Given the description of an element on the screen output the (x, y) to click on. 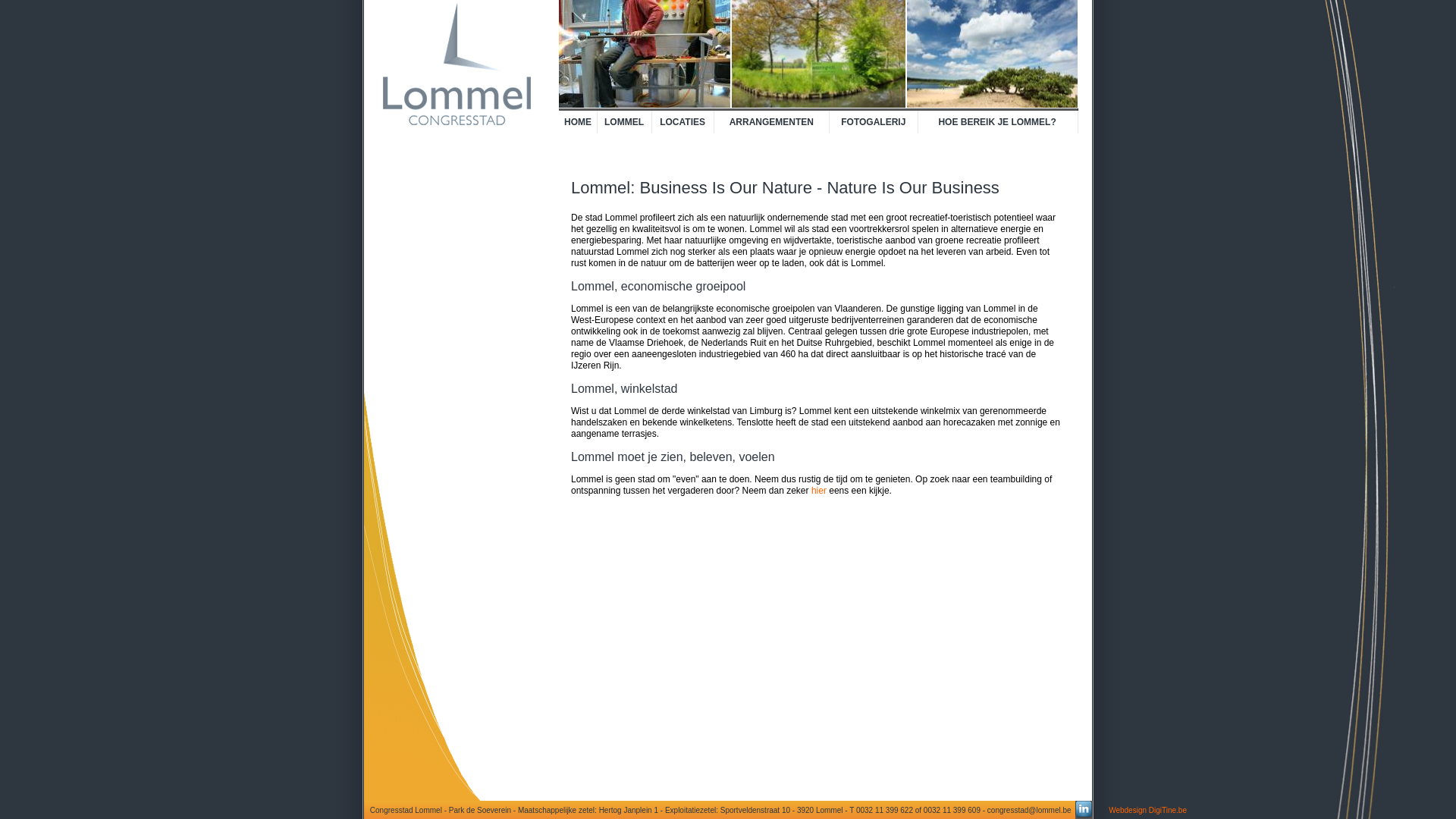
LOCATIES Element type: text (682, 121)
FOTOGALERIJ Element type: text (873, 121)
HOE BEREIK JE LOMMEL? Element type: text (997, 121)
ARRANGEMENTEN Element type: text (771, 121)
hier Element type: text (818, 490)
LOMMEL Element type: text (624, 121)
HOME Element type: text (577, 121)
congresstad@lommel.be Element type: text (1029, 810)
Webdesign DigiTine.be Element type: text (1147, 810)
